Given the description of an element on the screen output the (x, y) to click on. 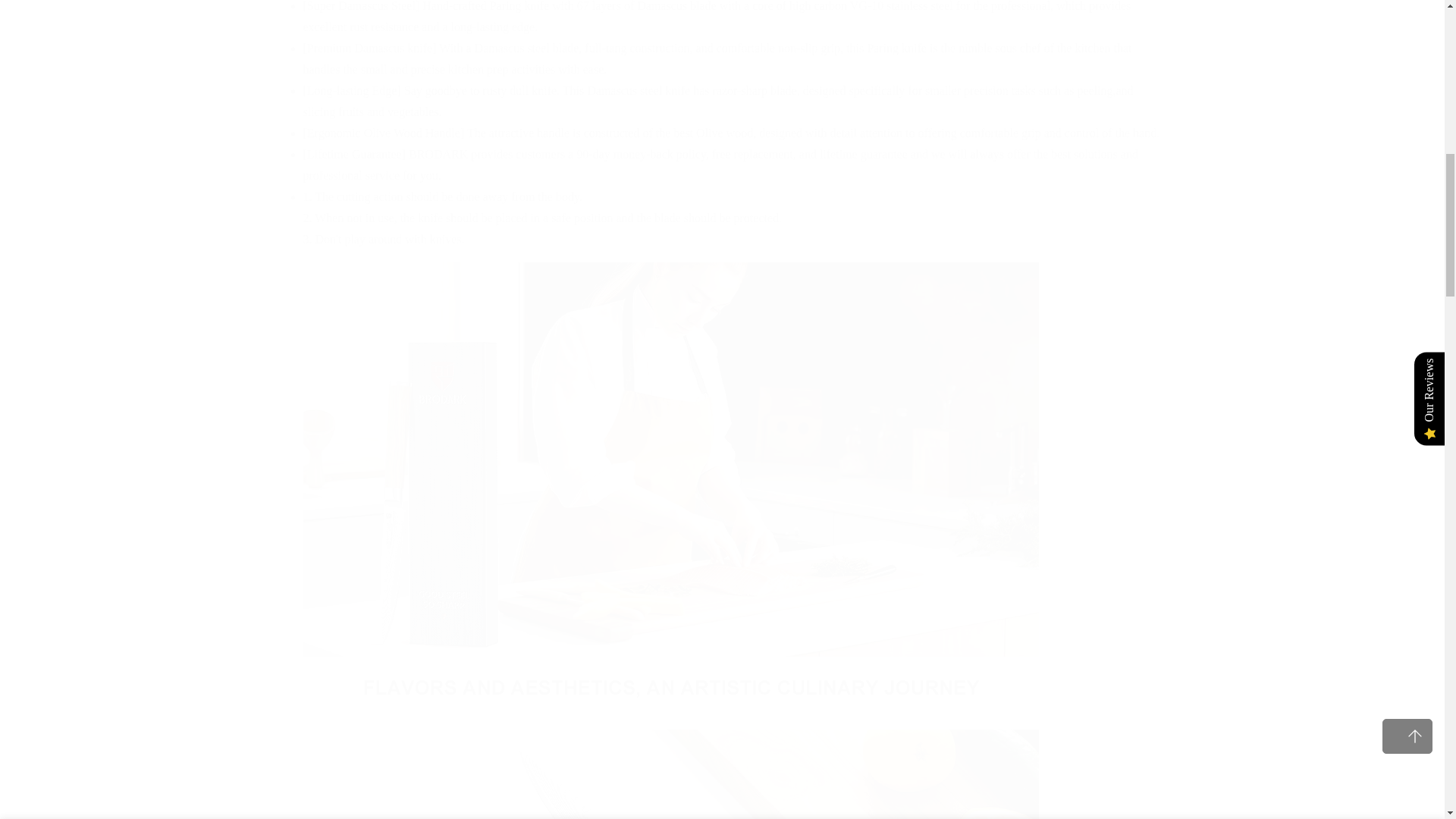
1 (994, 28)
